Given the description of an element on the screen output the (x, y) to click on. 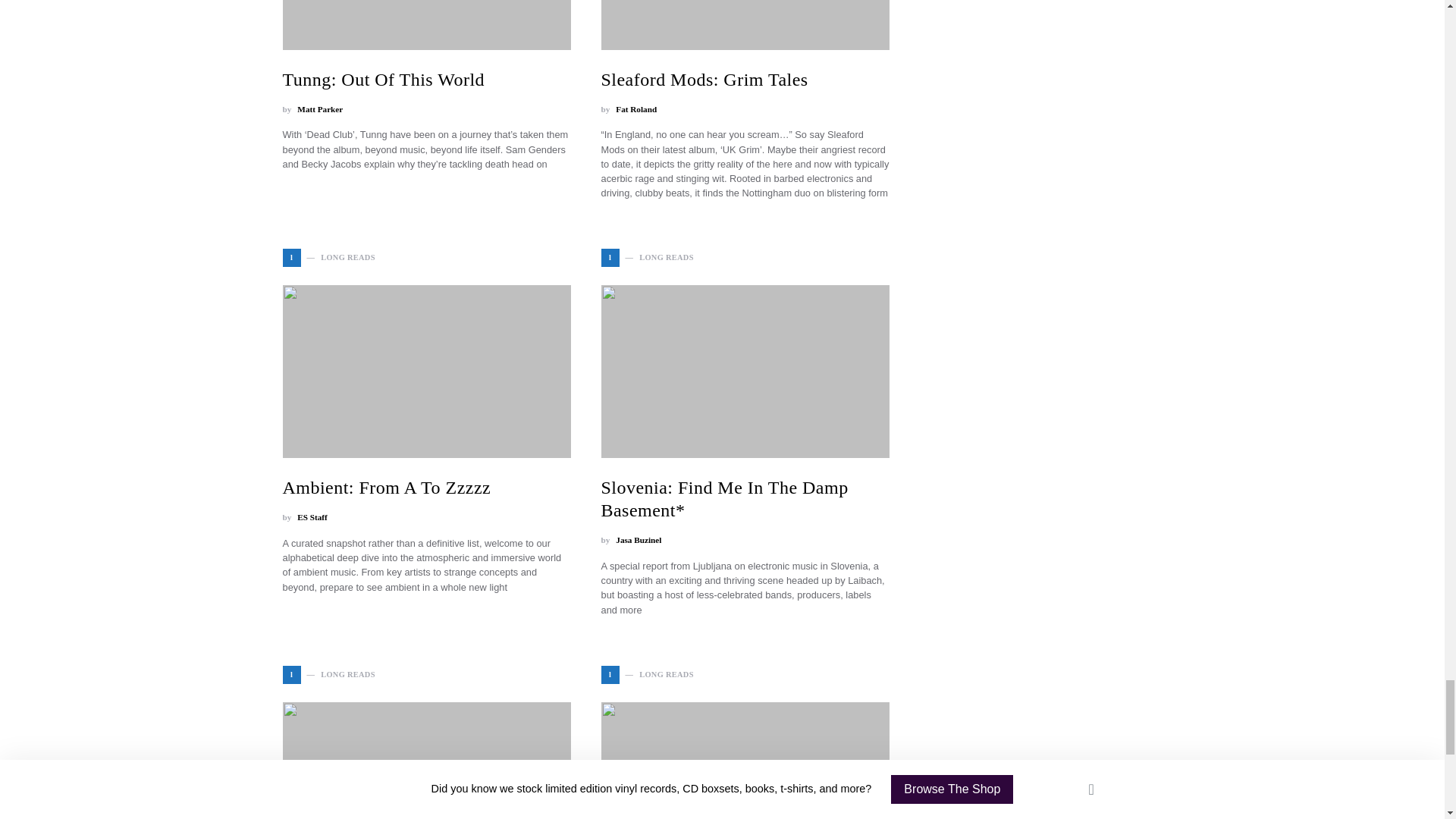
View all posts by Jasa Buzinel (638, 540)
View all posts by Fat Roland (635, 109)
View all posts by Matt Parker (319, 109)
View all posts by ES Staff (311, 517)
